Given the description of an element on the screen output the (x, y) to click on. 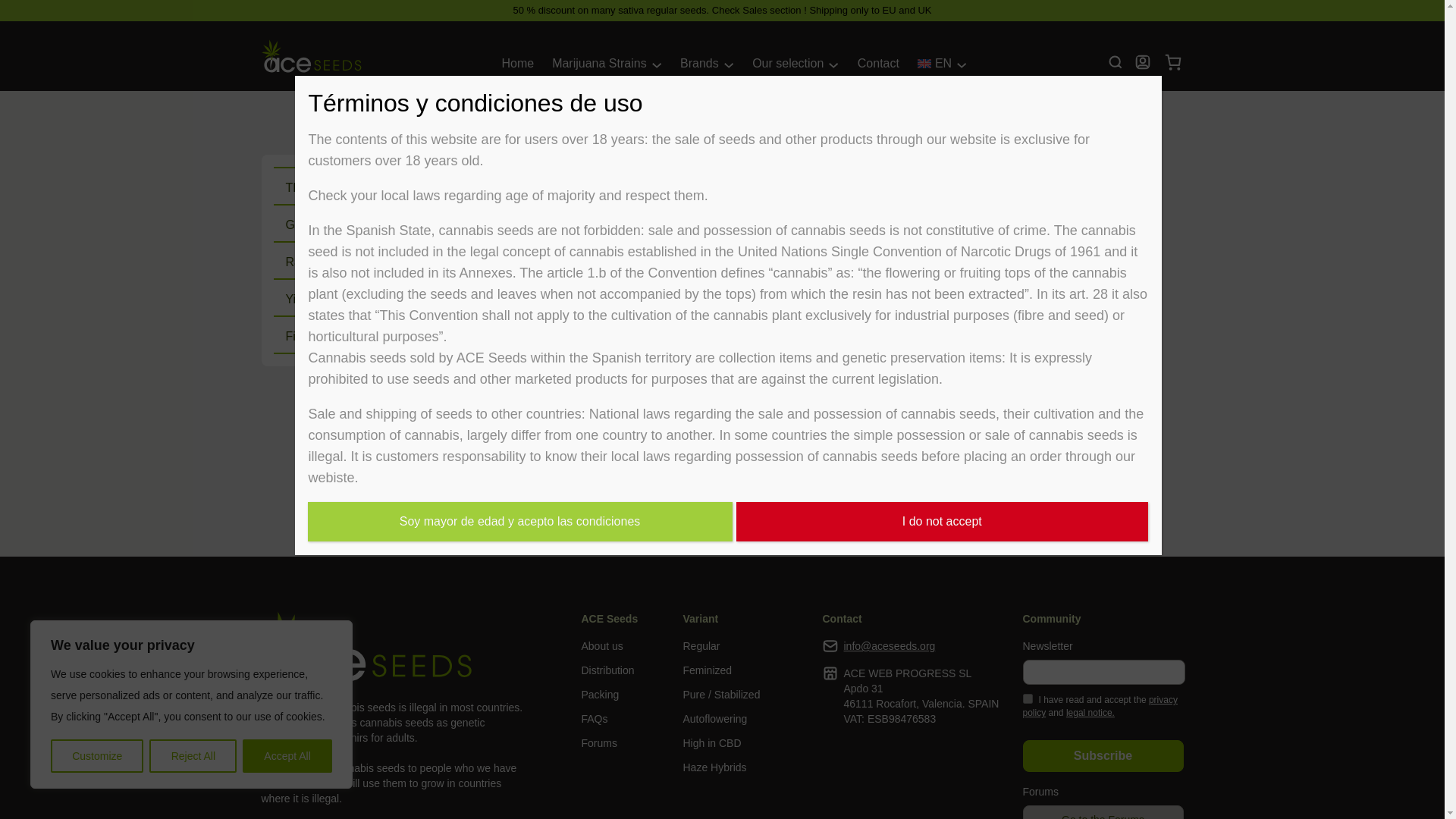
1 (1027, 698)
Subscribe (1102, 756)
Home (517, 63)
Marijuana Strains (598, 63)
Our selection (788, 63)
Accept All (287, 756)
Customize (96, 756)
Reject All (192, 756)
Brands (699, 63)
